Given the description of an element on the screen output the (x, y) to click on. 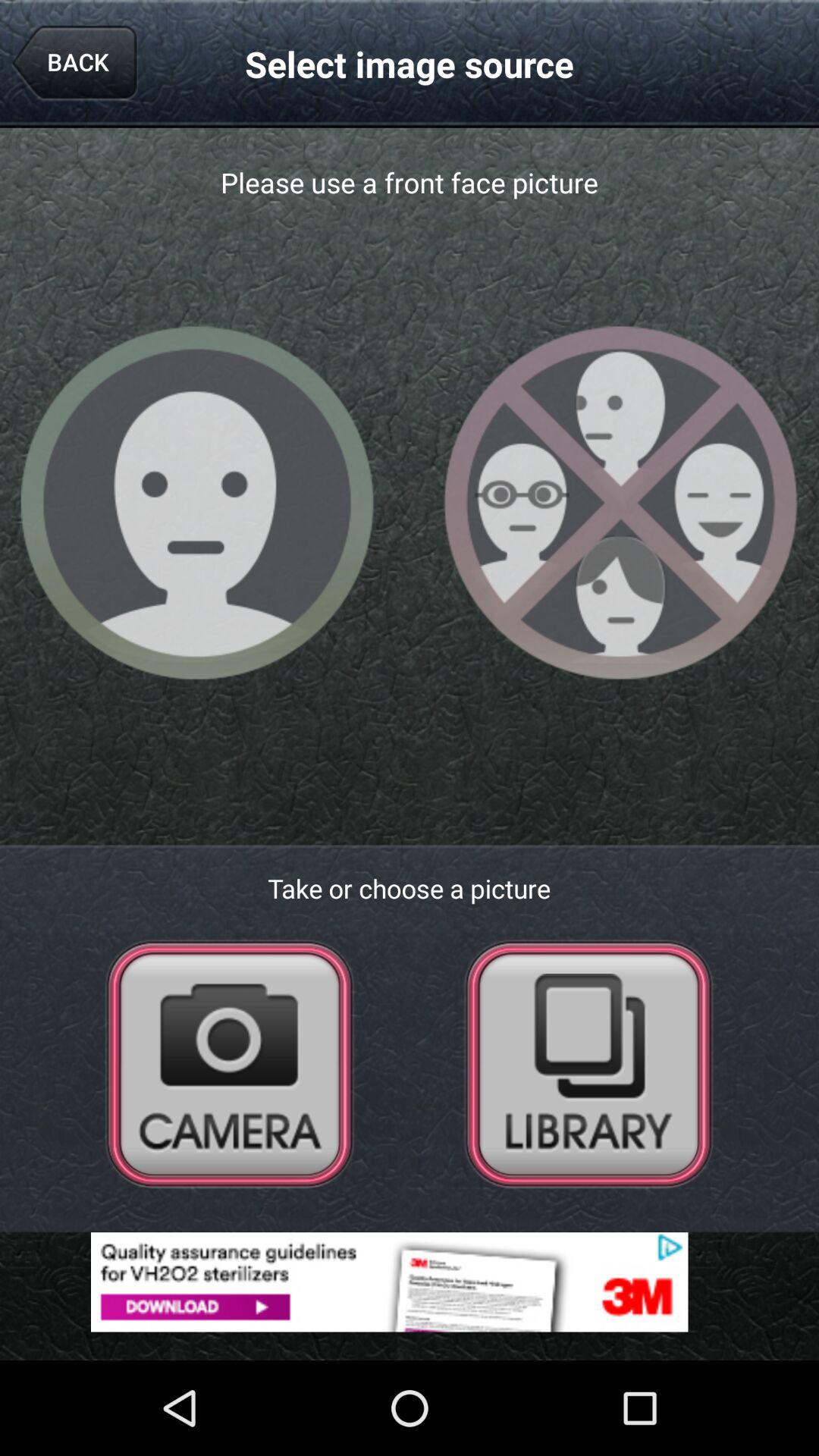
view advertiser (409, 1282)
